Given the description of an element on the screen output the (x, y) to click on. 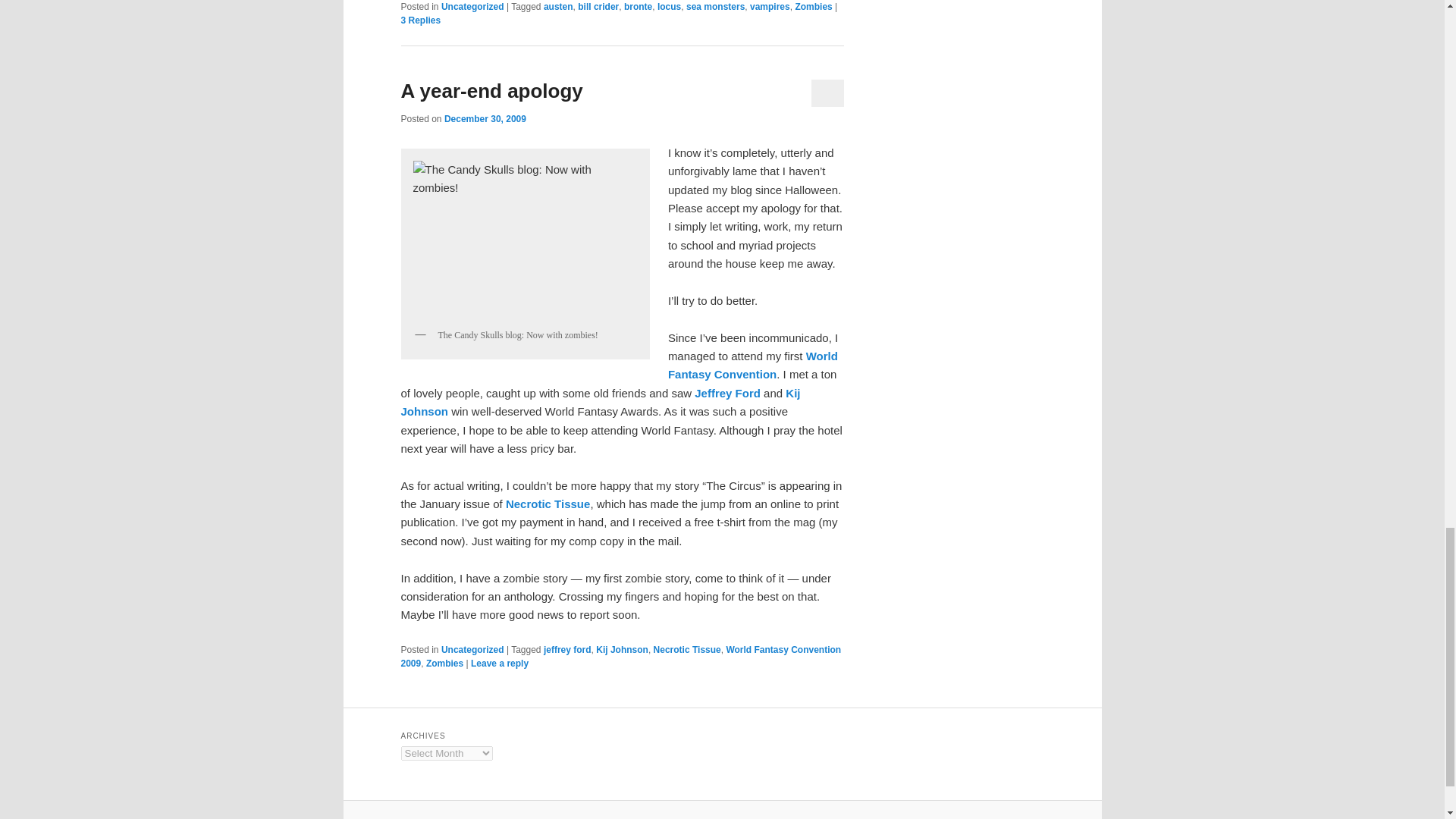
zomb1 (525, 238)
austen (558, 6)
bill crider (598, 6)
1:16 pm (484, 118)
Uncategorized (472, 6)
bronte (638, 6)
